Given the description of an element on the screen output the (x, y) to click on. 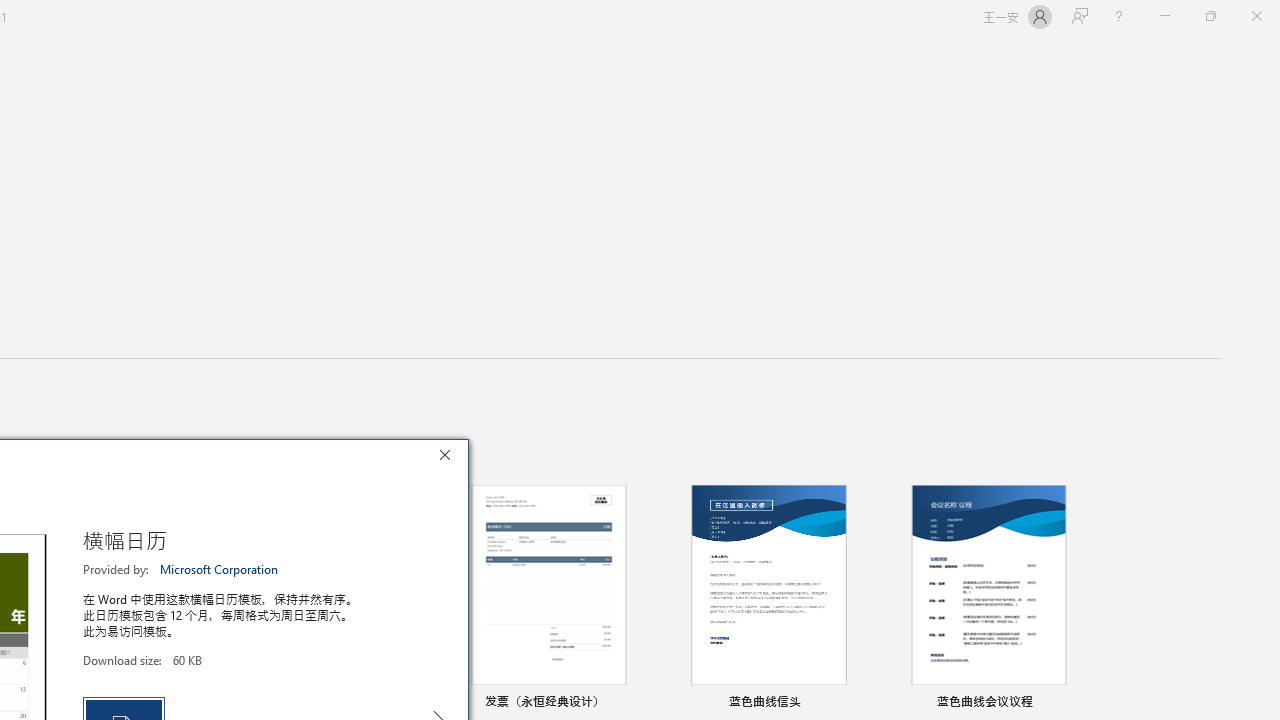
Microsoft Corporation (220, 569)
Pin to list (1075, 703)
